Given the description of an element on the screen output the (x, y) to click on. 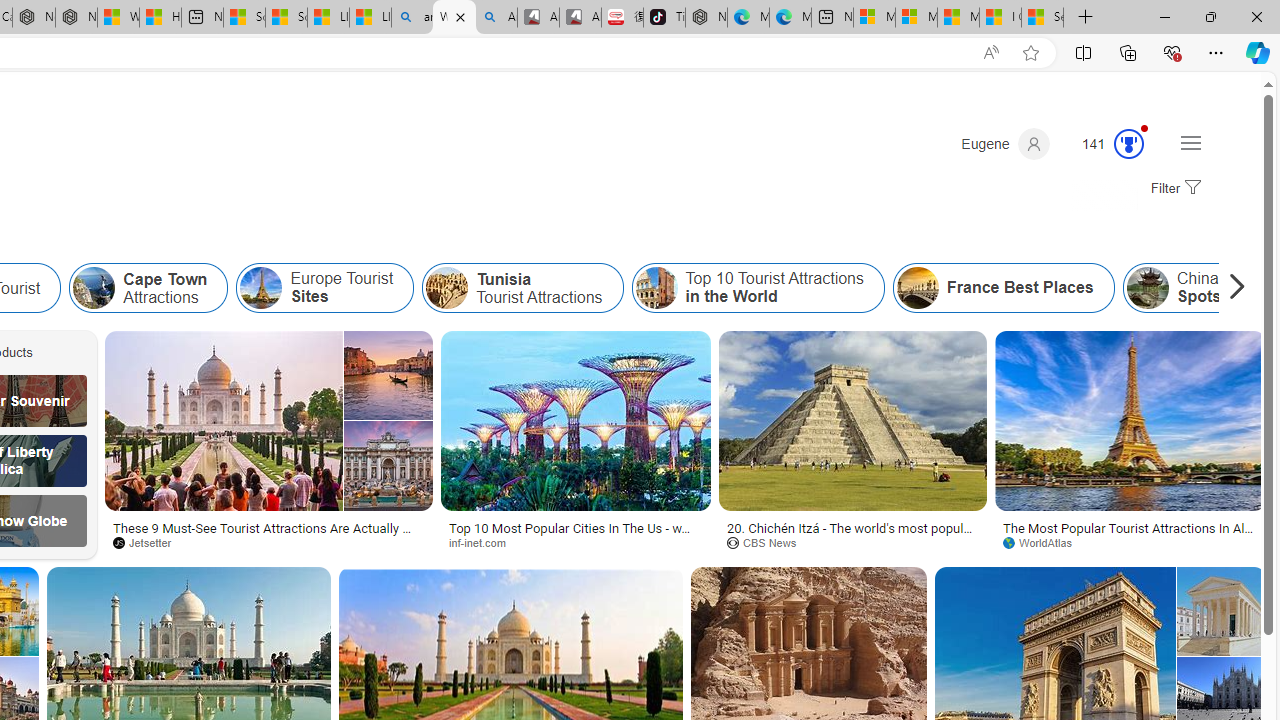
Top 10 Tourist Attractions in the World (656, 287)
Top 10 Most Popular Cities In The Us - www.inf-inet.com (575, 534)
WorldAtlas (1130, 542)
Eugene (1005, 143)
Amazon Echo Robot - Search Images (496, 17)
WorldAtlas (1044, 541)
Europe Tourist Sites (261, 287)
Settings and quick links (1190, 142)
